Given the description of an element on the screen output the (x, y) to click on. 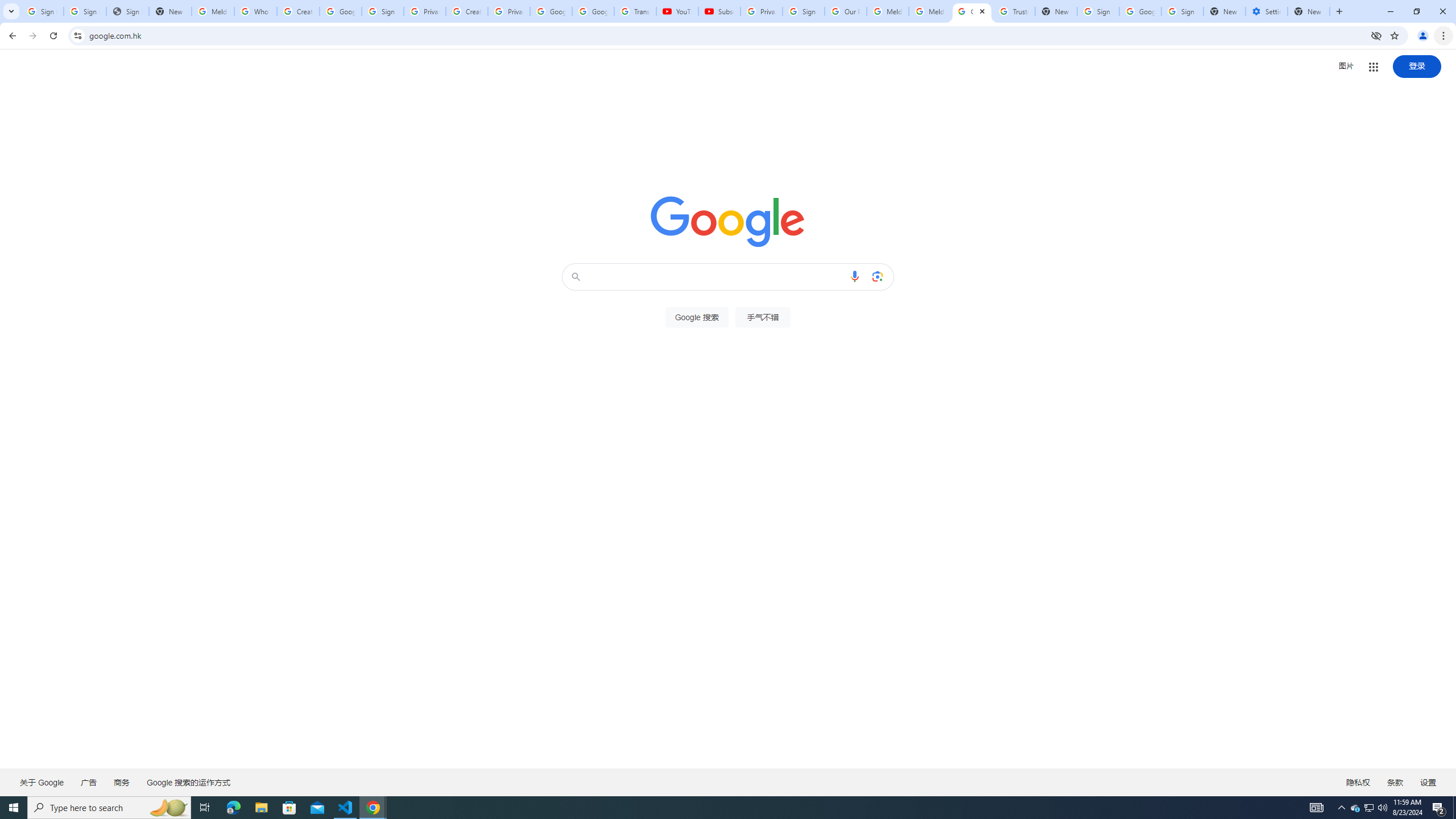
Trusted Information and Content - Google Safety Center (1013, 11)
New Tab (1224, 11)
New Tab (1308, 11)
Sign in - Google Accounts (1097, 11)
